Given the description of an element on the screen output the (x, y) to click on. 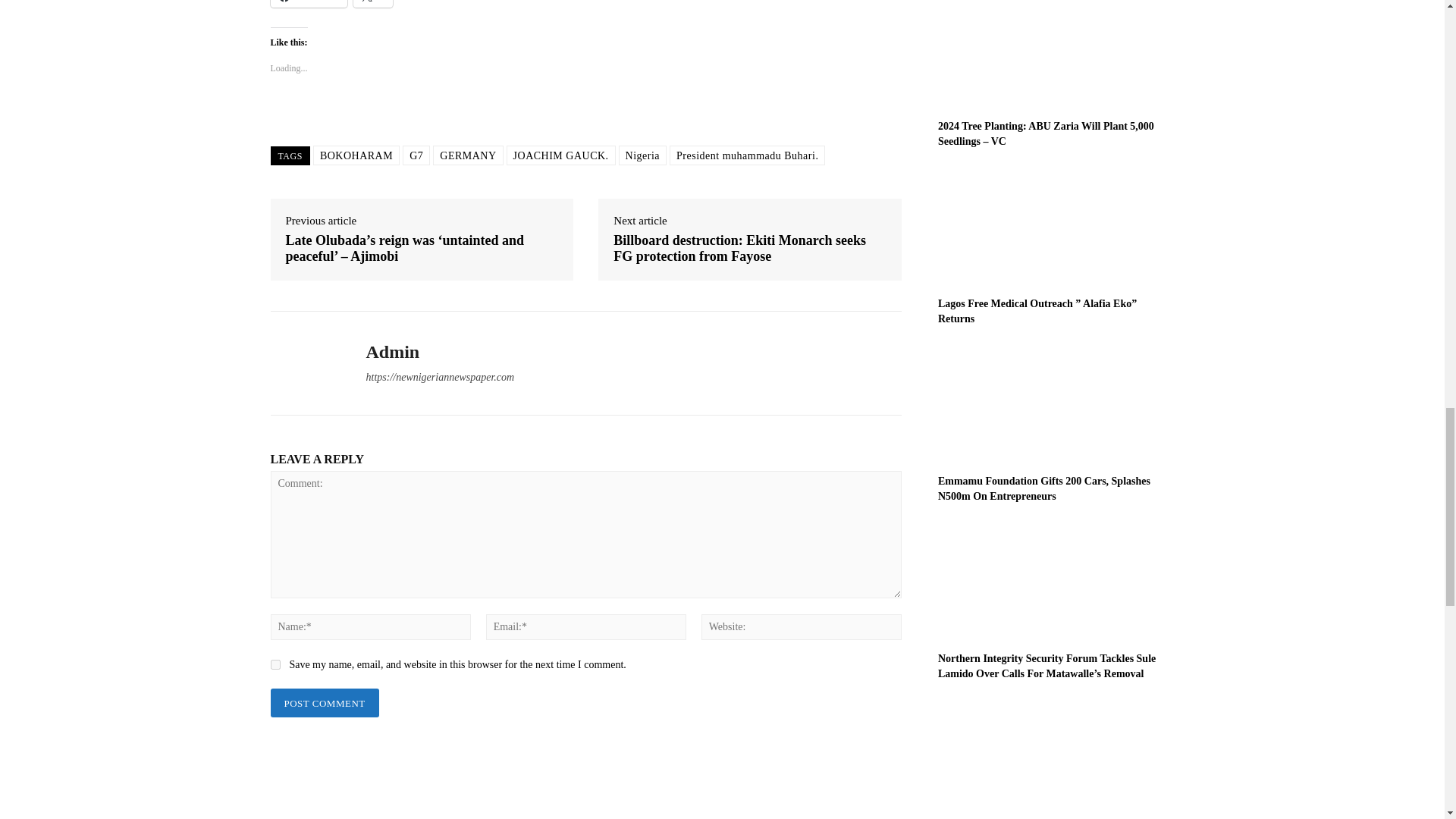
Facebook (307, 3)
yes (274, 664)
Post Comment (323, 703)
X (373, 3)
Click to share on X (373, 3)
admin (305, 362)
Click to share on Facebook (307, 3)
